Given the description of an element on the screen output the (x, y) to click on. 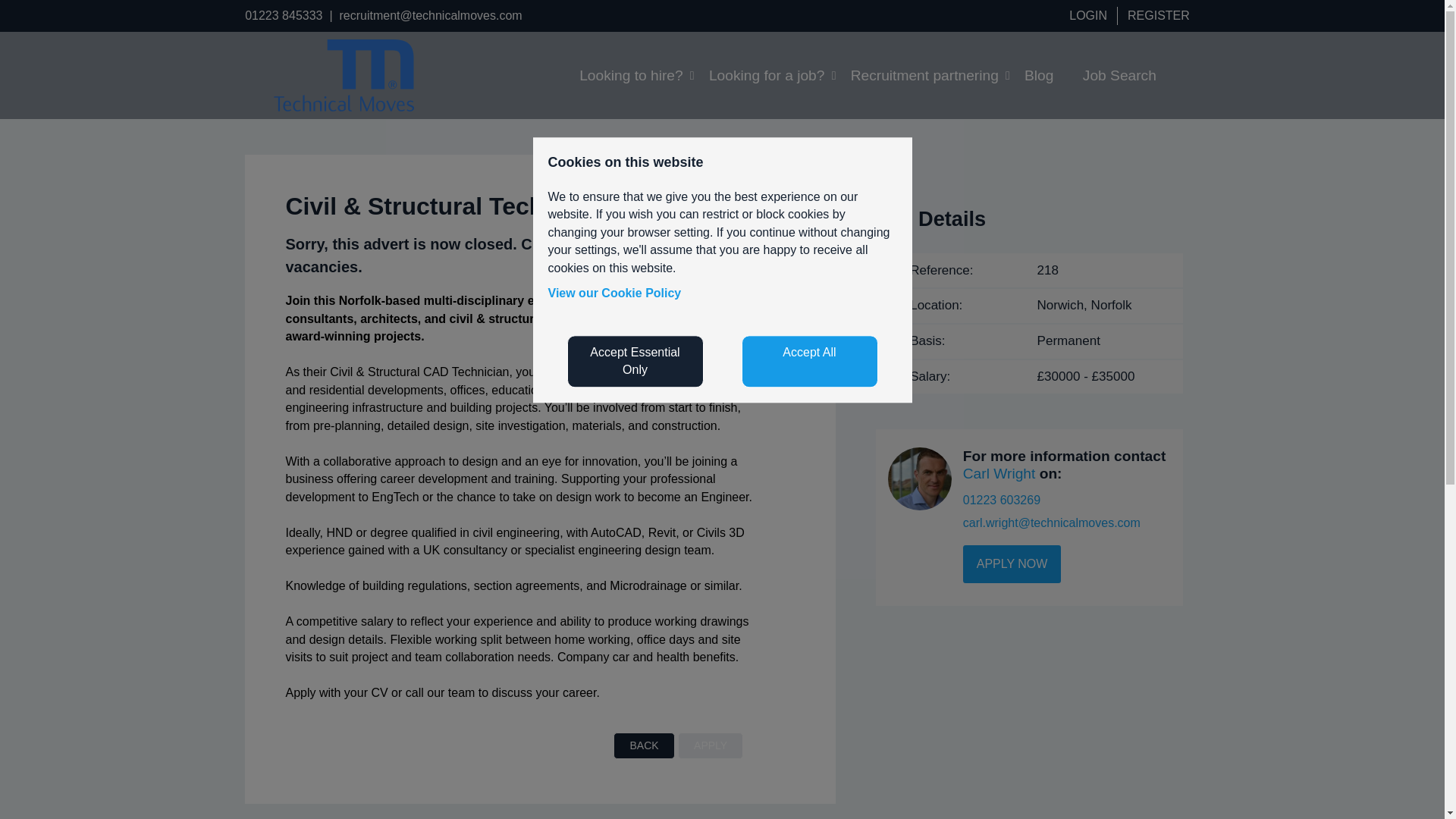
Apply (710, 745)
Looking to hire? (631, 74)
01223 603269 (1001, 499)
Back (643, 745)
Back (643, 745)
here (578, 243)
01223 845333 (282, 15)
Technical Moves (343, 106)
Carl Wright (998, 473)
Looking for a job? (766, 74)
REGISTER (1158, 15)
LOGIN (1088, 15)
Recruitment partnering (925, 74)
Job Search (1119, 74)
